Given the description of an element on the screen output the (x, y) to click on. 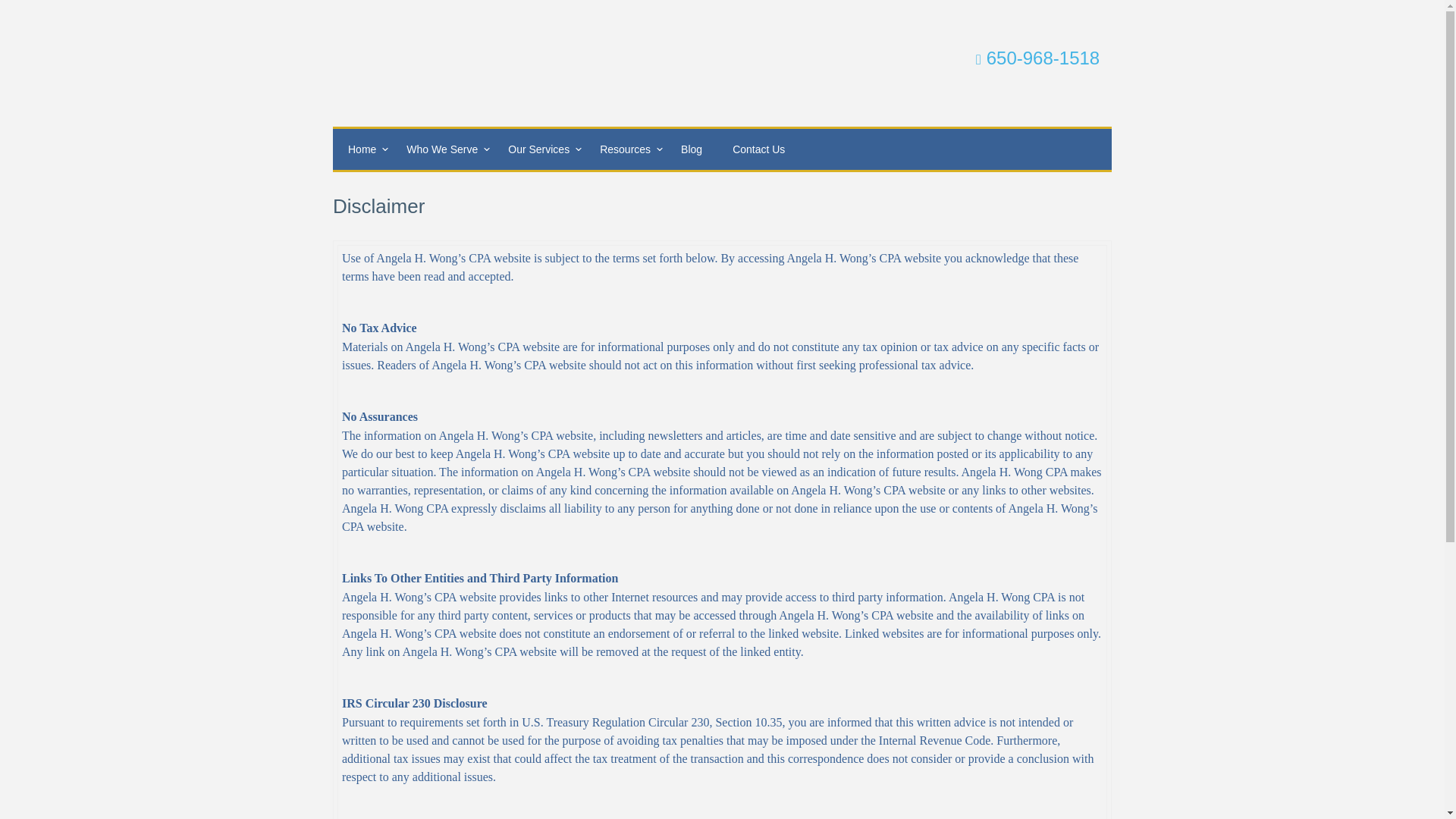
Home (362, 148)
Blog (691, 148)
650-968-1518 (1037, 58)
Resources (625, 148)
Our Services (539, 148)
Who We Serve (442, 148)
Contact Us (758, 148)
